Given the description of an element on the screen output the (x, y) to click on. 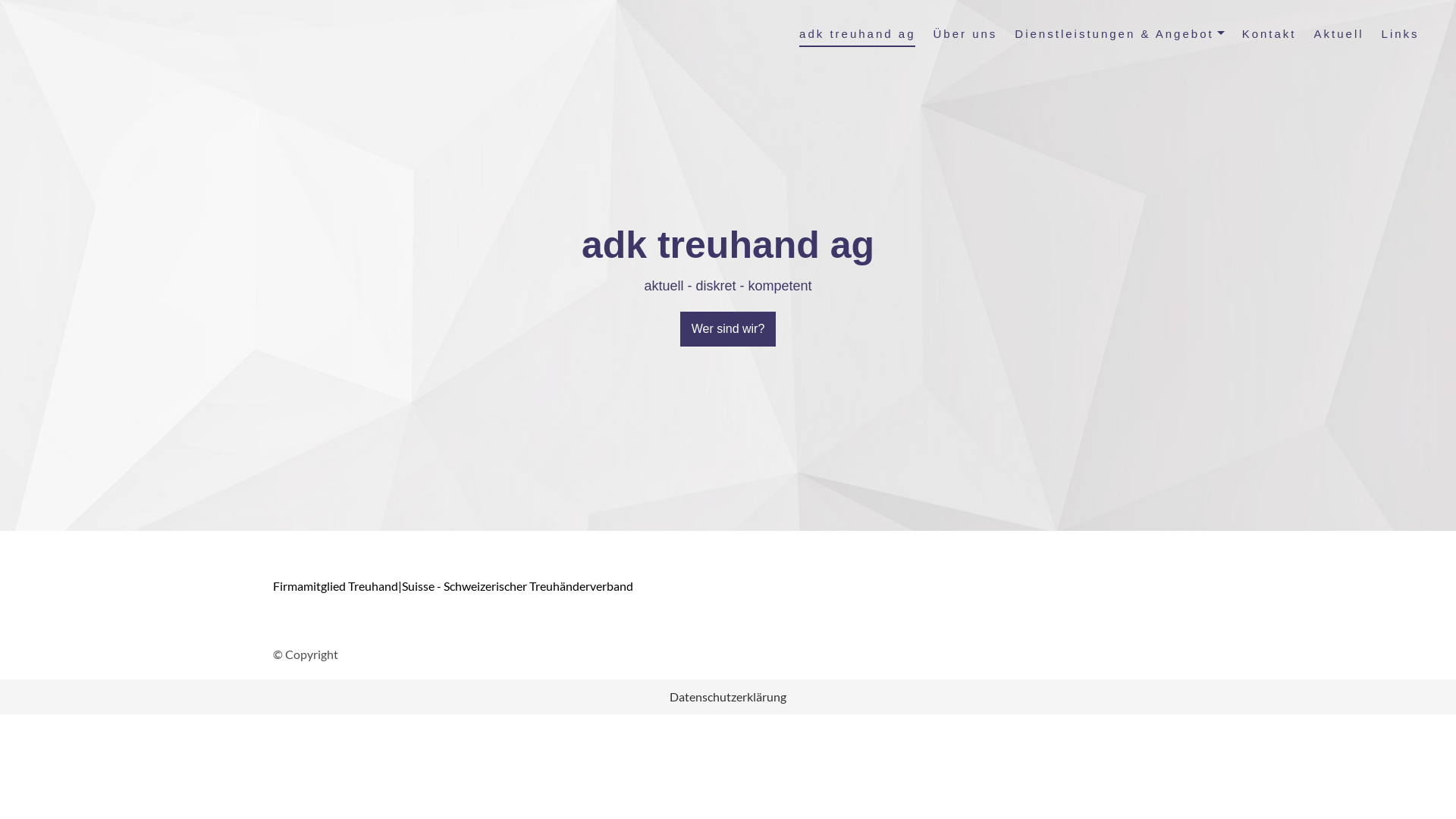
adk treuhand ag Element type: text (857, 35)
Wer sind wir? Element type: text (728, 328)
Aktuell Element type: text (1339, 34)
Kontakt Element type: text (1269, 34)
Links Element type: text (1400, 34)
